Given the description of an element on the screen output the (x, y) to click on. 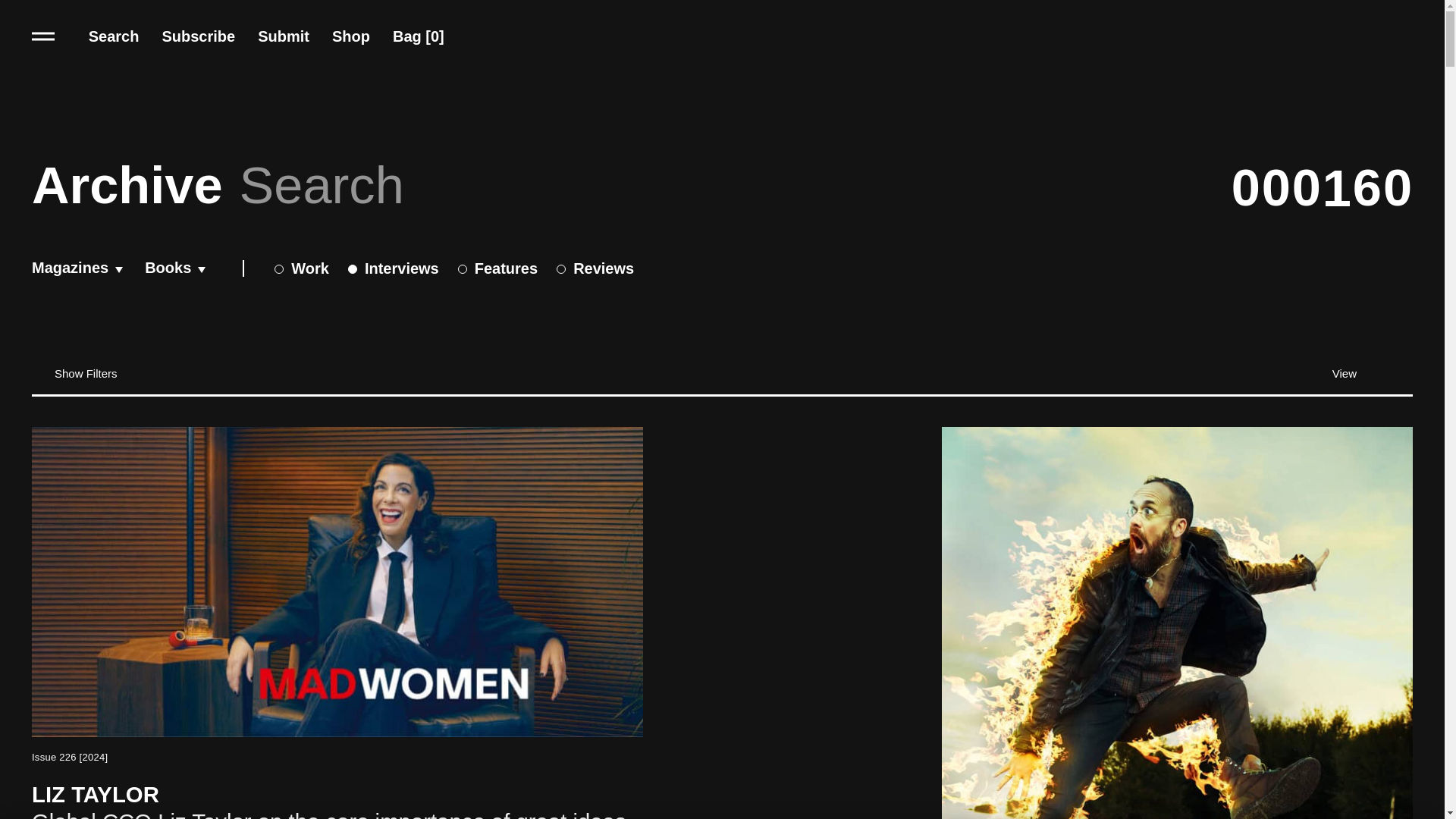
Work (311, 268)
Interviews (402, 268)
Features (507, 268)
Submit (282, 35)
Shop (350, 35)
Subscribe (197, 35)
Search (113, 35)
Reviews (604, 268)
